Given the description of an element on the screen output the (x, y) to click on. 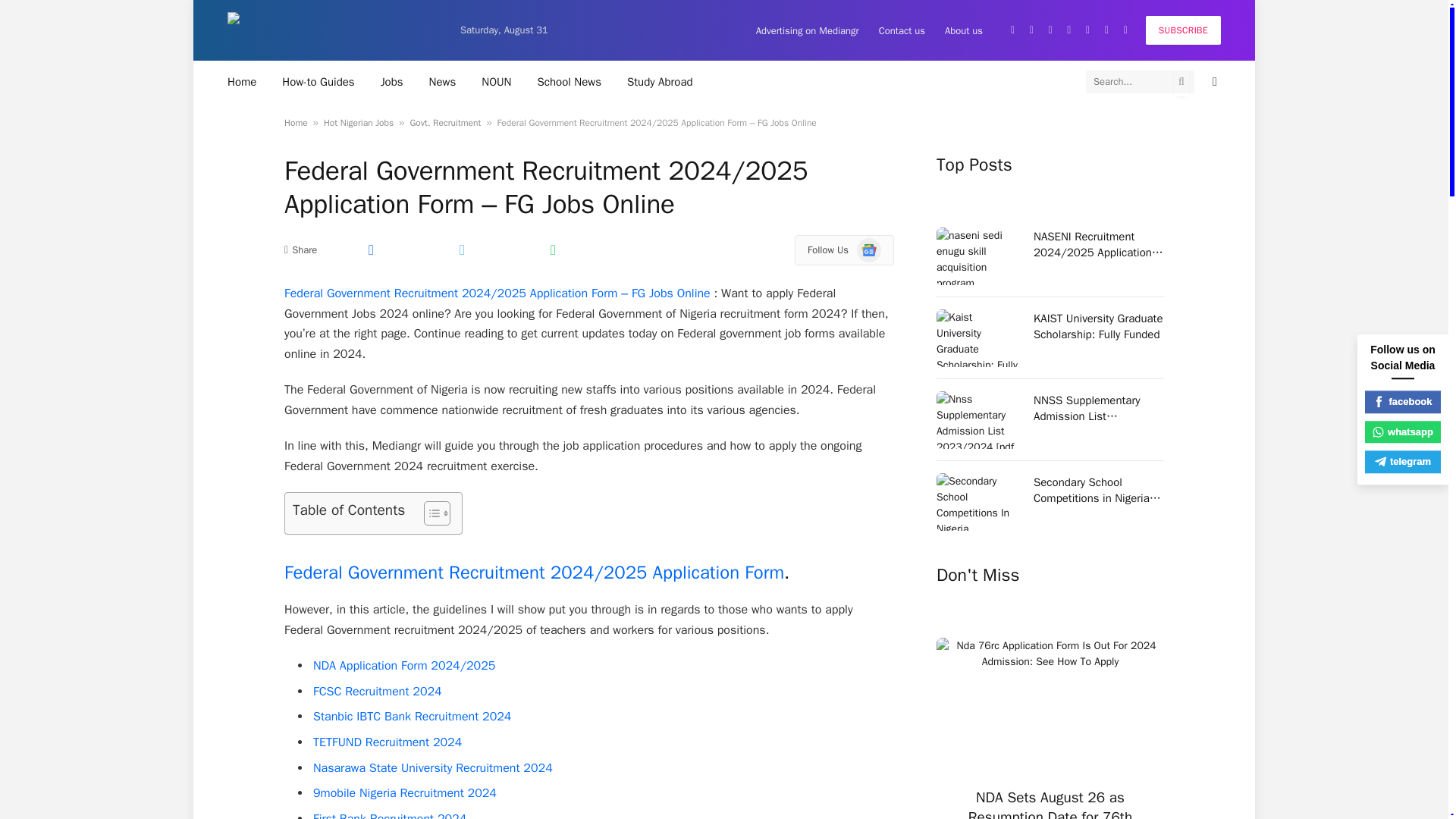
Share on WhatsApp (552, 248)
Hot Nigerian Jobs Today (392, 81)
Switch to Dark Design - easier on eyes. (1213, 81)
Mediangr (330, 30)
Share on Facebook (370, 248)
